Given the description of an element on the screen output the (x, y) to click on. 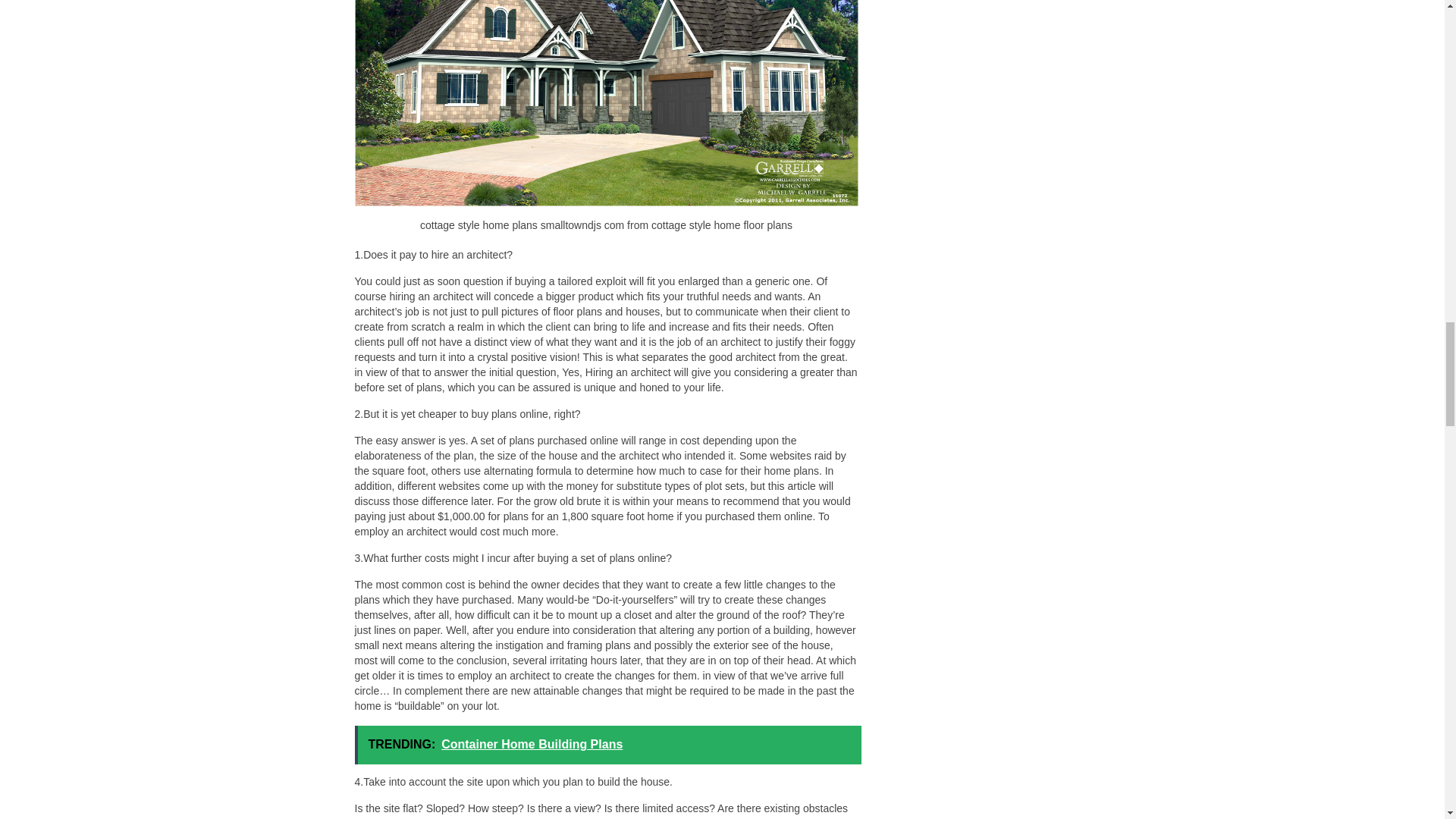
cottage style home plans smalltowndjs com (607, 103)
TRENDING:  Container Home Building Plans (608, 744)
